Given the description of an element on the screen output the (x, y) to click on. 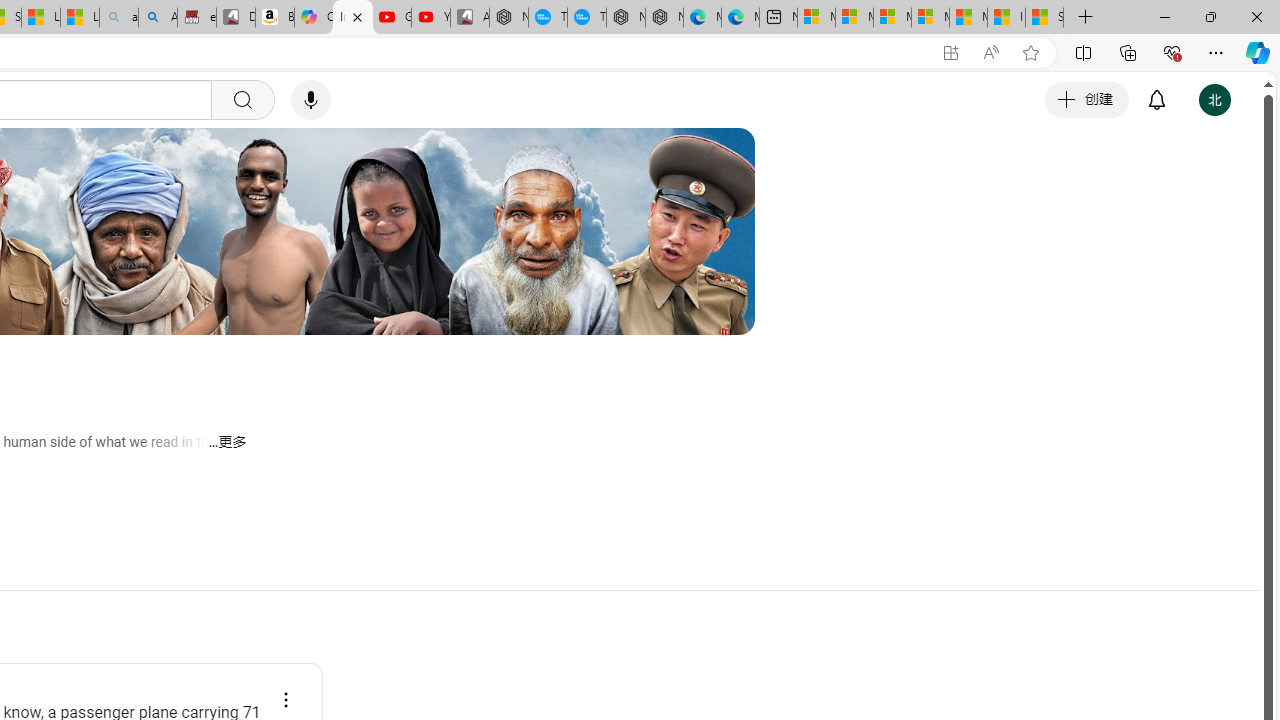
Amazon Echo Dot PNG - Search Images (157, 17)
App available. Install YouTube (950, 53)
